Given the description of an element on the screen output the (x, y) to click on. 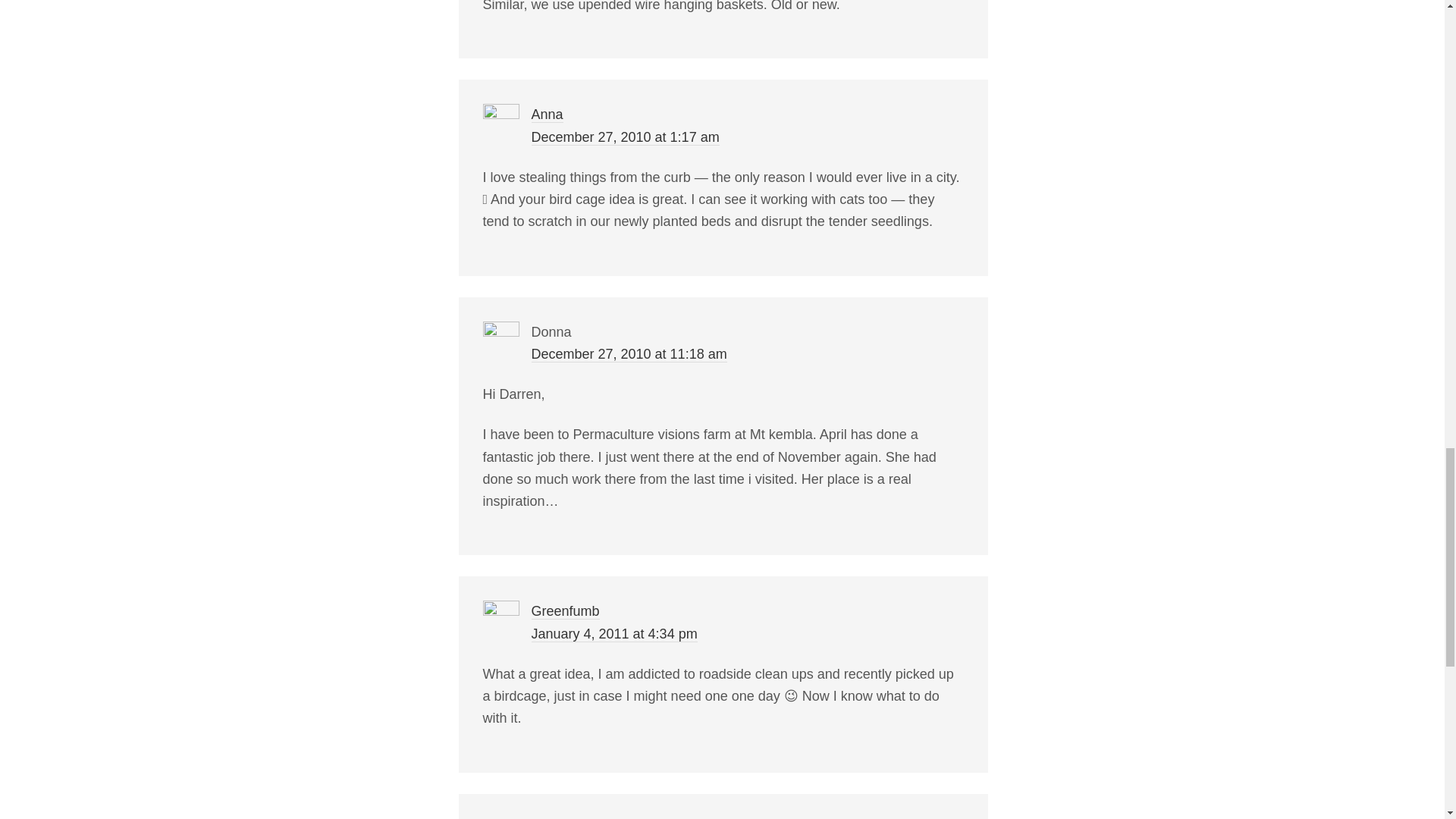
Monday, December 27, 2010, 11:18 am (628, 354)
Greenfumb (564, 611)
January 4, 2011 at 4:34 pm (614, 634)
Anna (546, 114)
December 27, 2010 at 1:17 am (625, 137)
December 27, 2010 at 11:18 am (628, 354)
Tuesday, January 4, 2011, 4:34 pm (614, 634)
Monday, December 27, 2010, 1:17 am (625, 137)
